Given the description of an element on the screen output the (x, y) to click on. 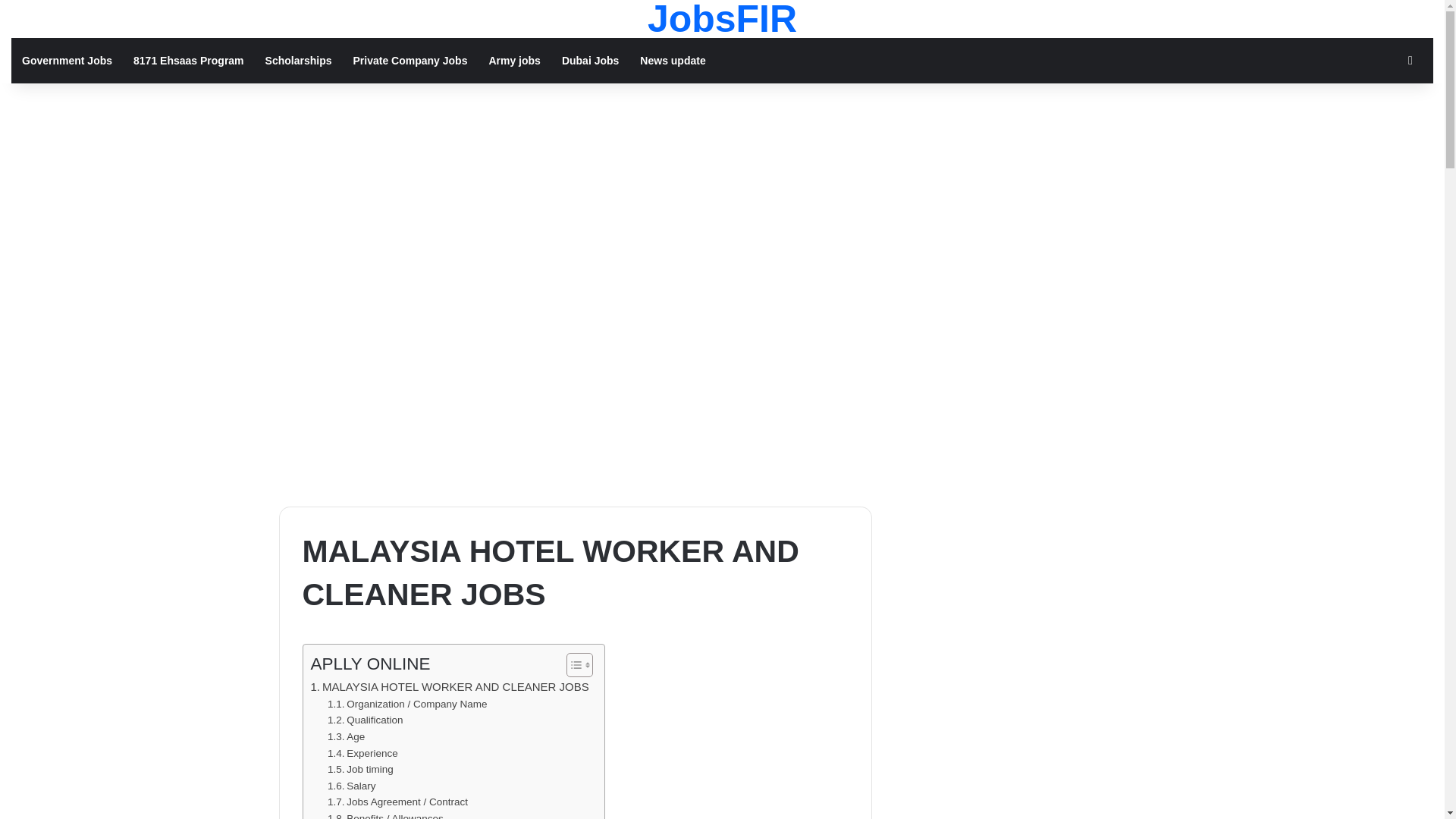
Job timing (360, 769)
Experience (362, 753)
Government Jobs (66, 60)
8171 Ehsaas Program (188, 60)
MALAYSIA HOTEL WORKER AND CLEANER JOBS (450, 687)
Age (346, 736)
Dubai Jobs (589, 60)
MALAYSIA HOTEL WORKER AND CLEANER JOBS (450, 687)
Scholarships (298, 60)
Private Company Jobs (409, 60)
